Given the description of an element on the screen output the (x, y) to click on. 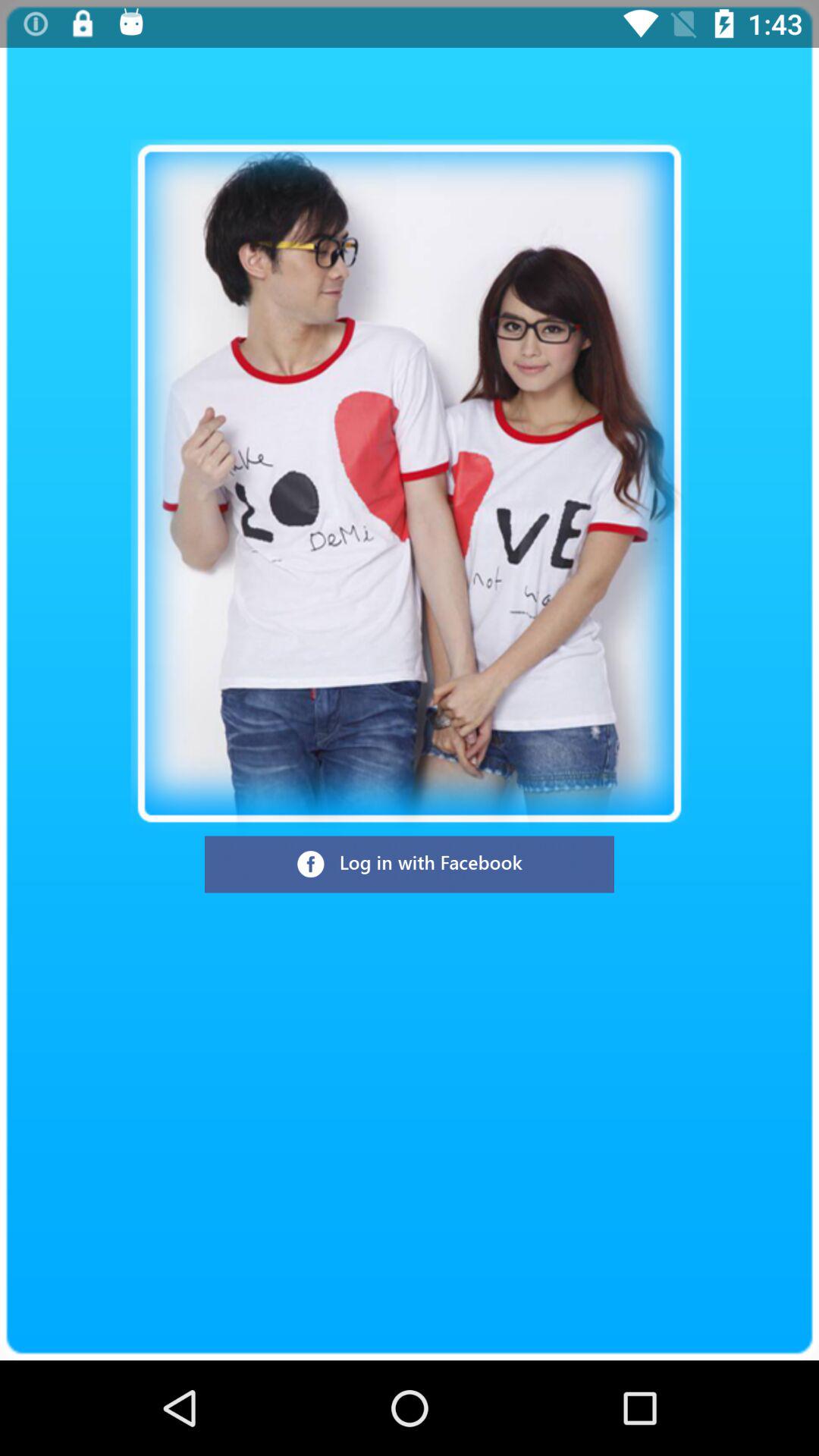
log in using your facebook account (409, 864)
